Given the description of an element on the screen output the (x, y) to click on. 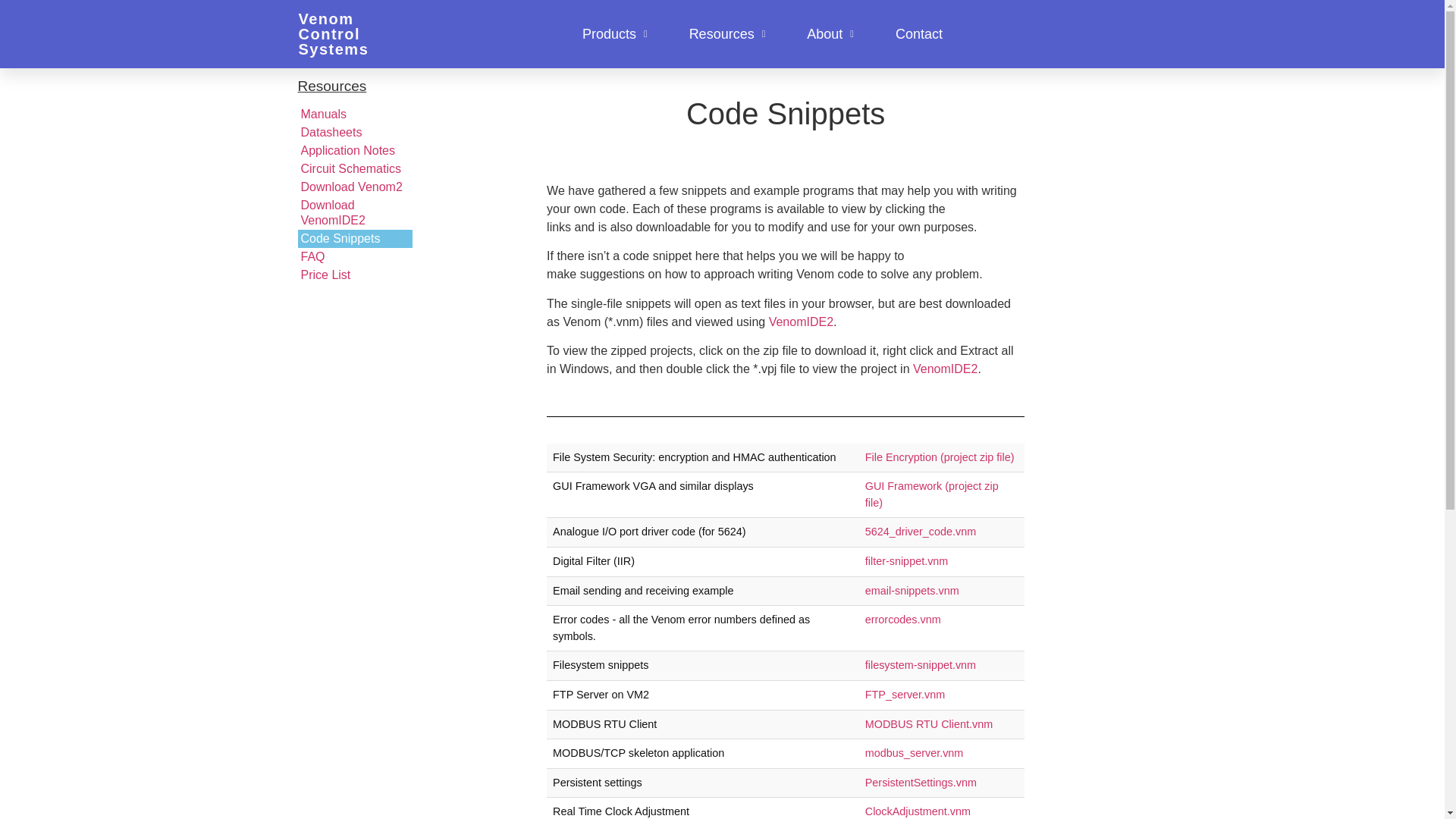
Resources (726, 33)
Venom Control Systems (333, 33)
Products (614, 33)
